Given the description of an element on the screen output the (x, y) to click on. 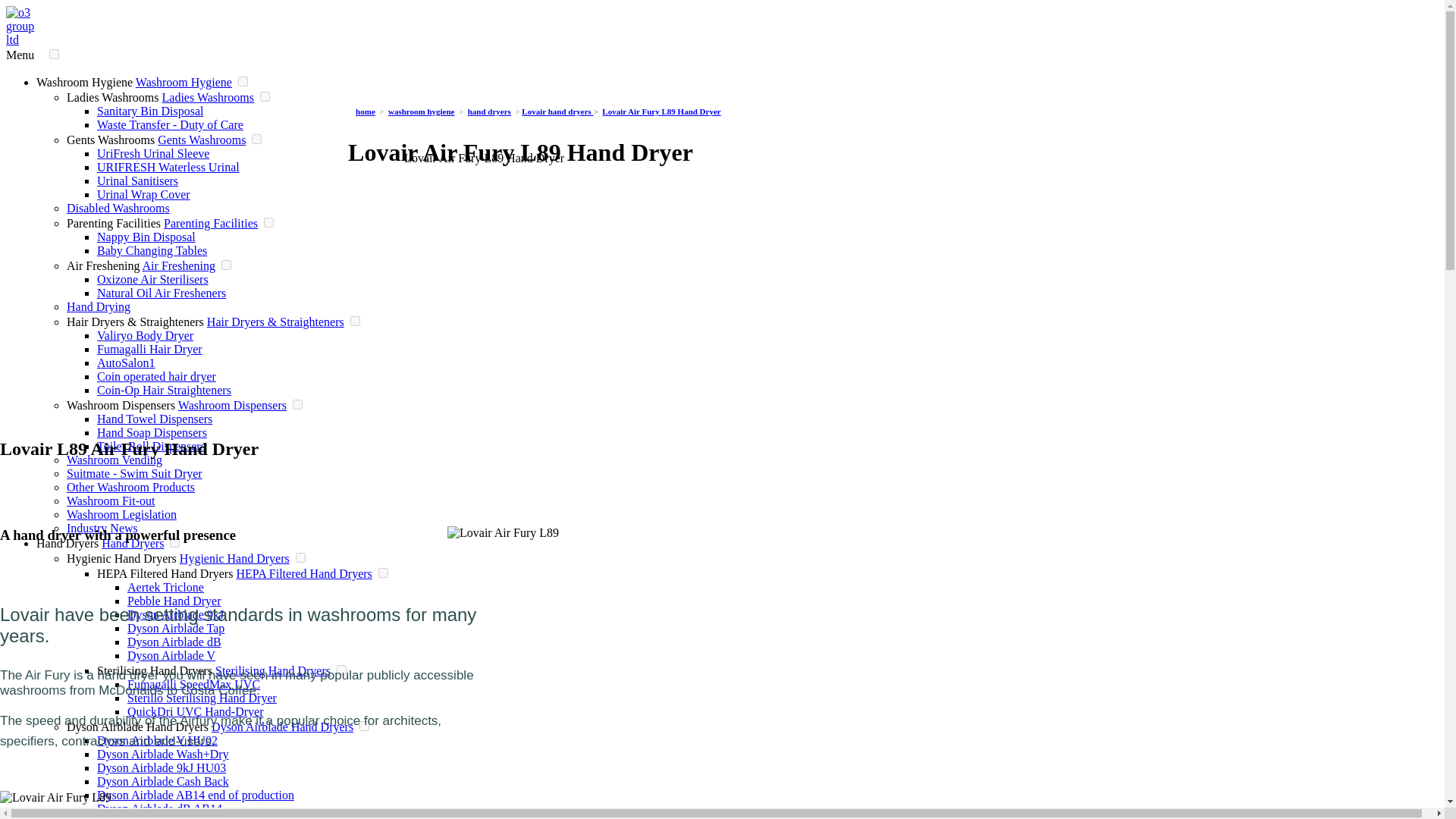
on (256, 139)
Gents Washrooms (201, 139)
Washroom Vending (113, 459)
Aertek Triclone (165, 586)
o3 group ltd (25, 39)
Sanitary Bin Disposal (150, 110)
Washroom Hygiene (183, 82)
UriFresh Urinal Sleeve (153, 153)
Baby Changing Tables (151, 250)
Ladies Washrooms (207, 97)
